Given the description of an element on the screen output the (x, y) to click on. 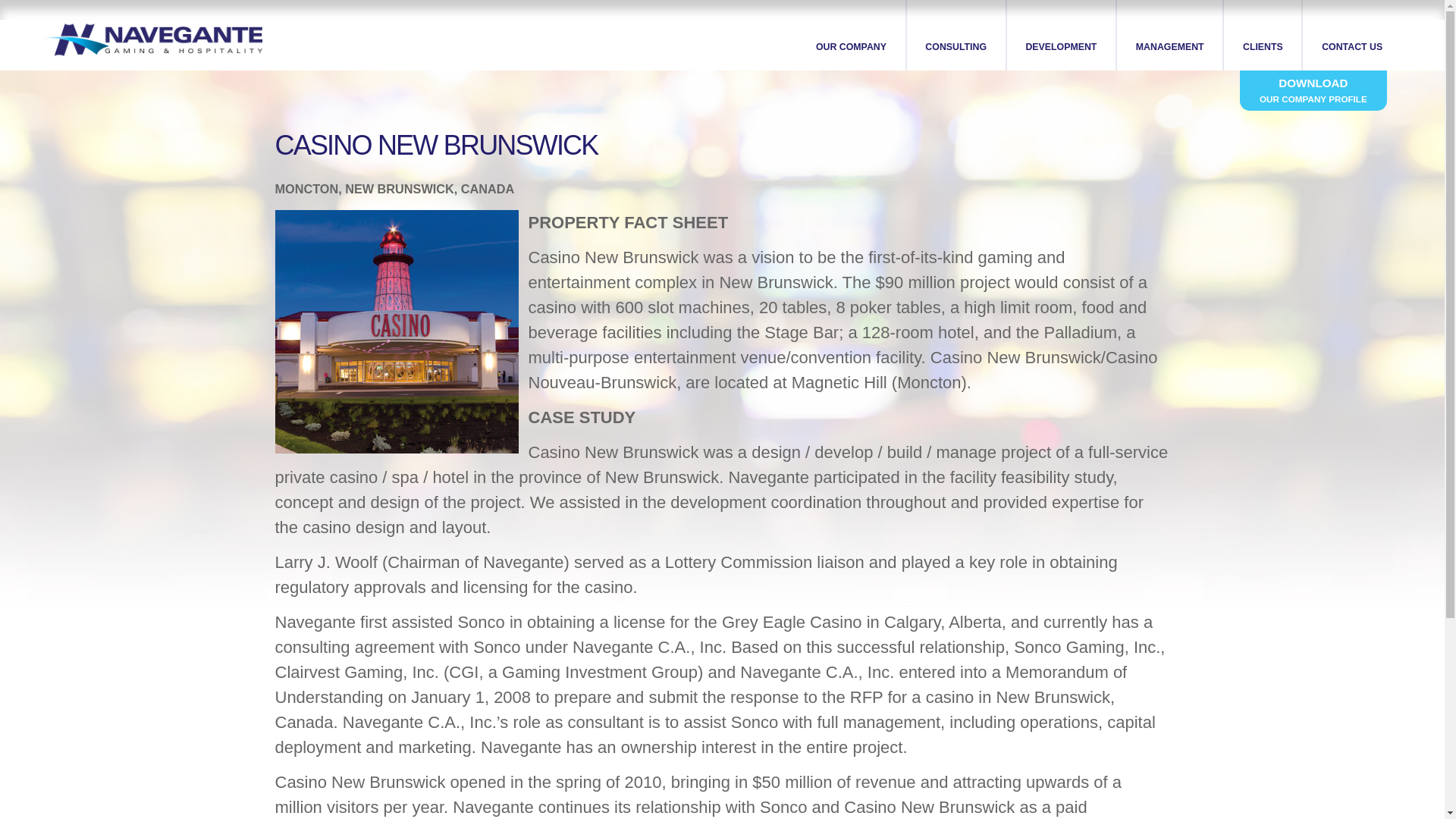
MANAGEMENT (1170, 35)
CONTACT US (1351, 35)
Skip to main content (693, 1)
CLIENTS (1263, 35)
CONSULTING (957, 35)
OUR COMPANY (850, 35)
DEVELOPMENT (1061, 35)
